Given the description of an element on the screen output the (x, y) to click on. 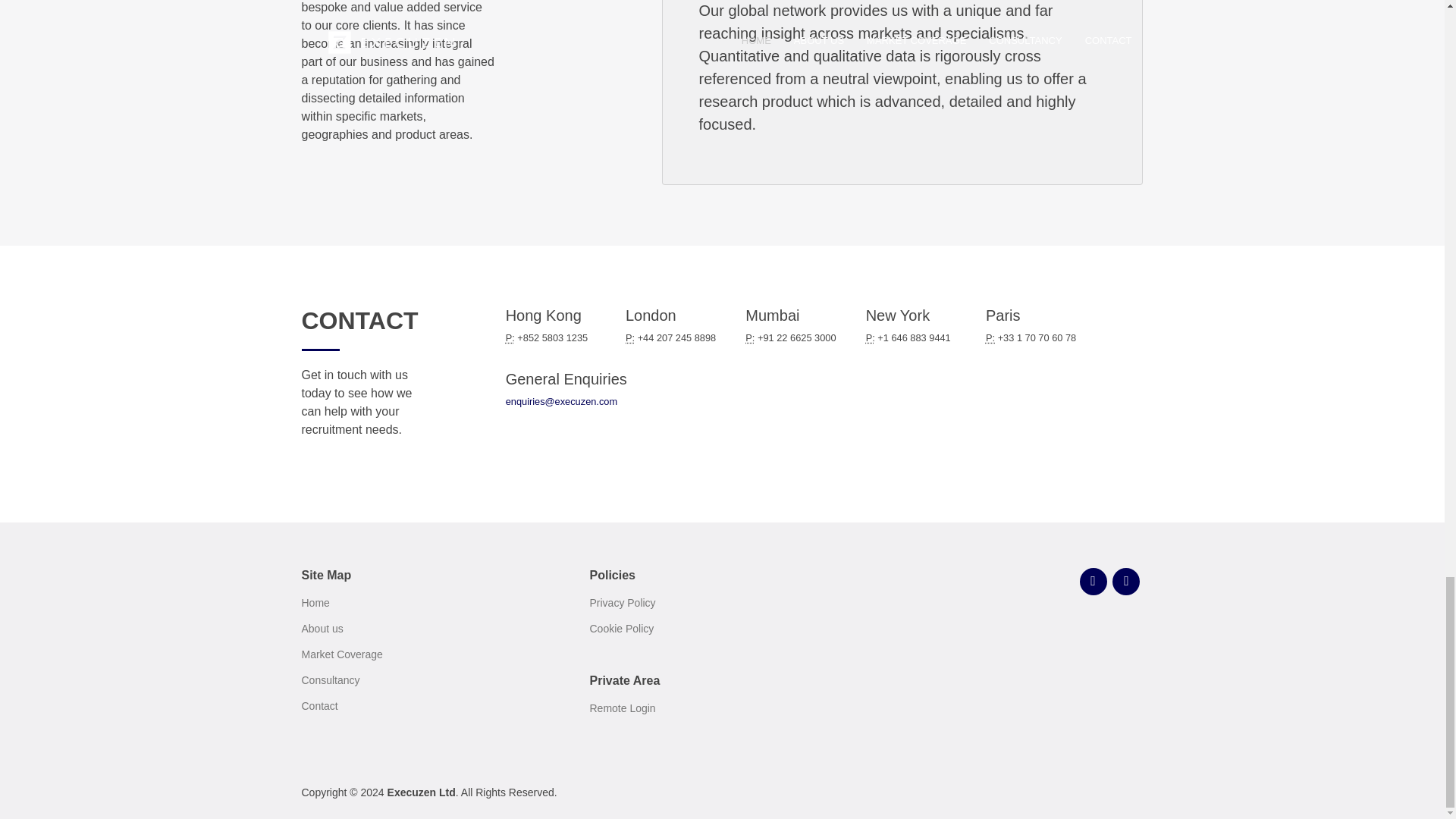
Home (315, 602)
About us (322, 628)
Cookie Policy (621, 628)
Contact (319, 706)
Market Coverage (341, 654)
Consultancy (330, 679)
Privacy Policy (622, 602)
Remote Login (622, 707)
Market Coverage (341, 654)
Consultancy (330, 679)
